Given the description of an element on the screen output the (x, y) to click on. 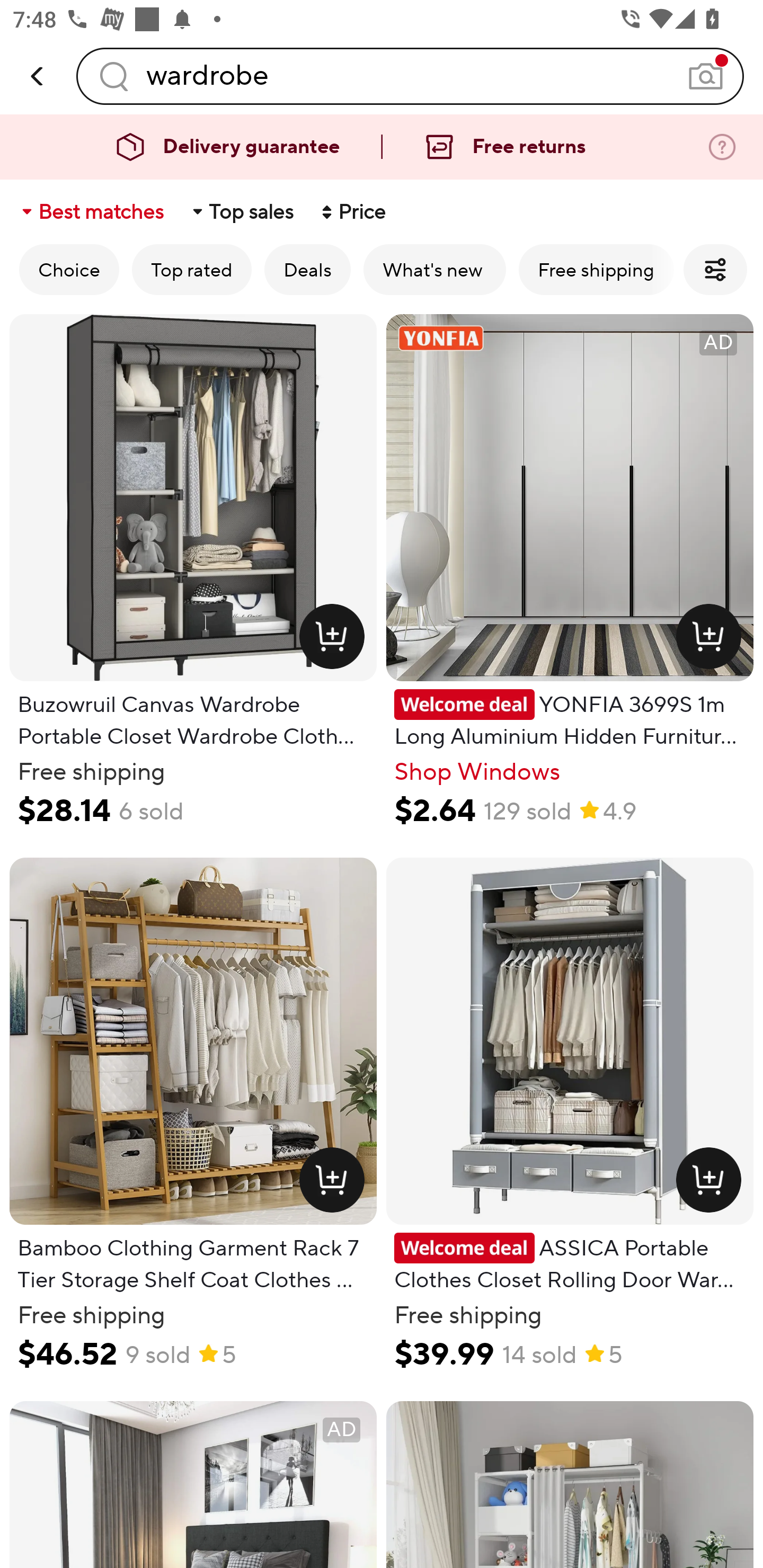
back (38, 75)
wardrobe Search query (409, 76)
wardrobe Search query (409, 76)
Best matches (91, 212)
Top sales (241, 212)
Price (352, 212)
Choice (69, 269)
Top rated (191, 269)
Deals (307, 269)
What's new  (434, 269)
Free shipping (595, 269)
